Given the description of an element on the screen output the (x, y) to click on. 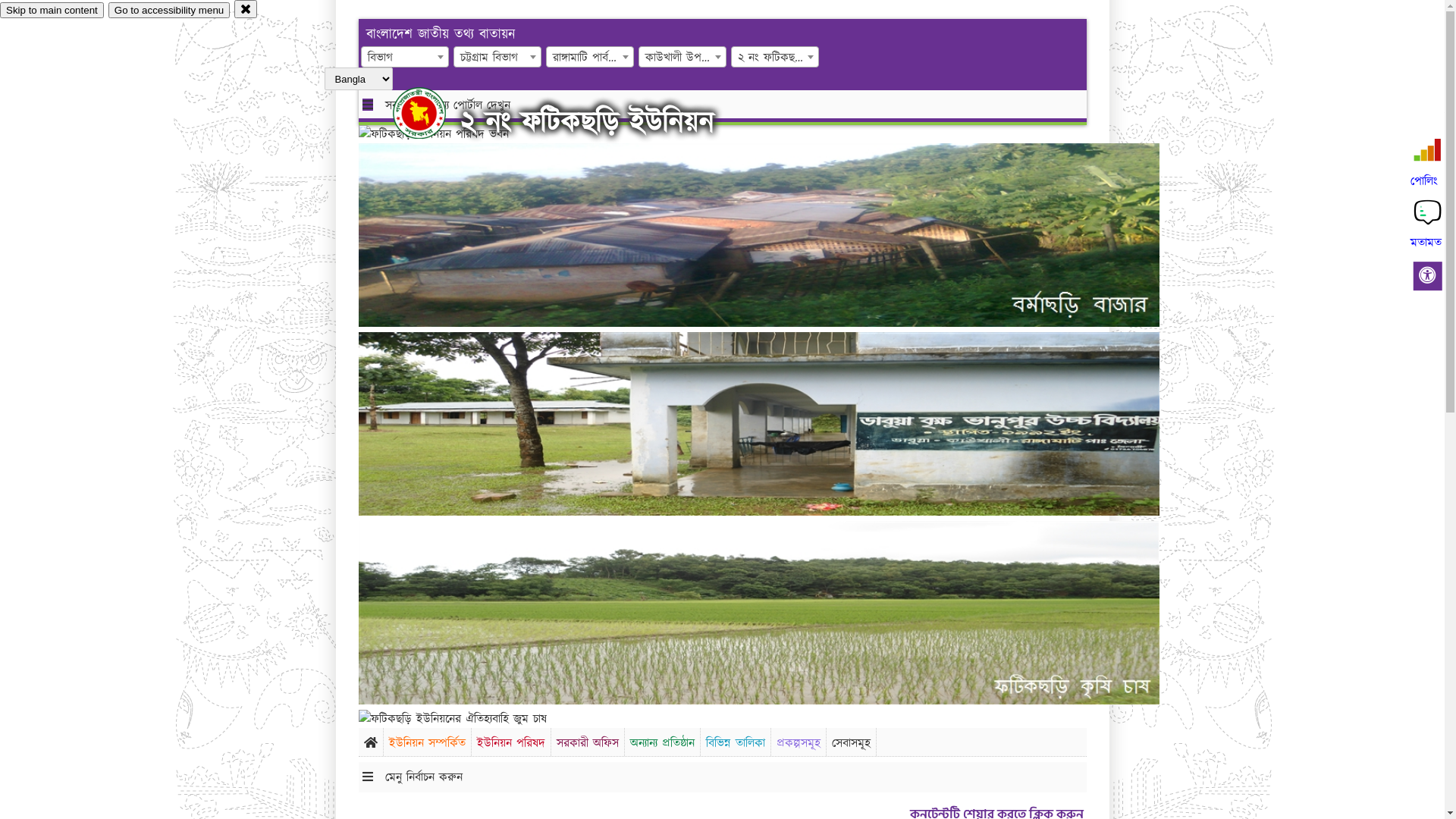
Go to accessibility menu Element type: text (168, 10)

                
             Element type: hover (431, 112)
close Element type: hover (245, 9)
Skip to main content Element type: text (51, 10)
